Given the description of an element on the screen output the (x, y) to click on. 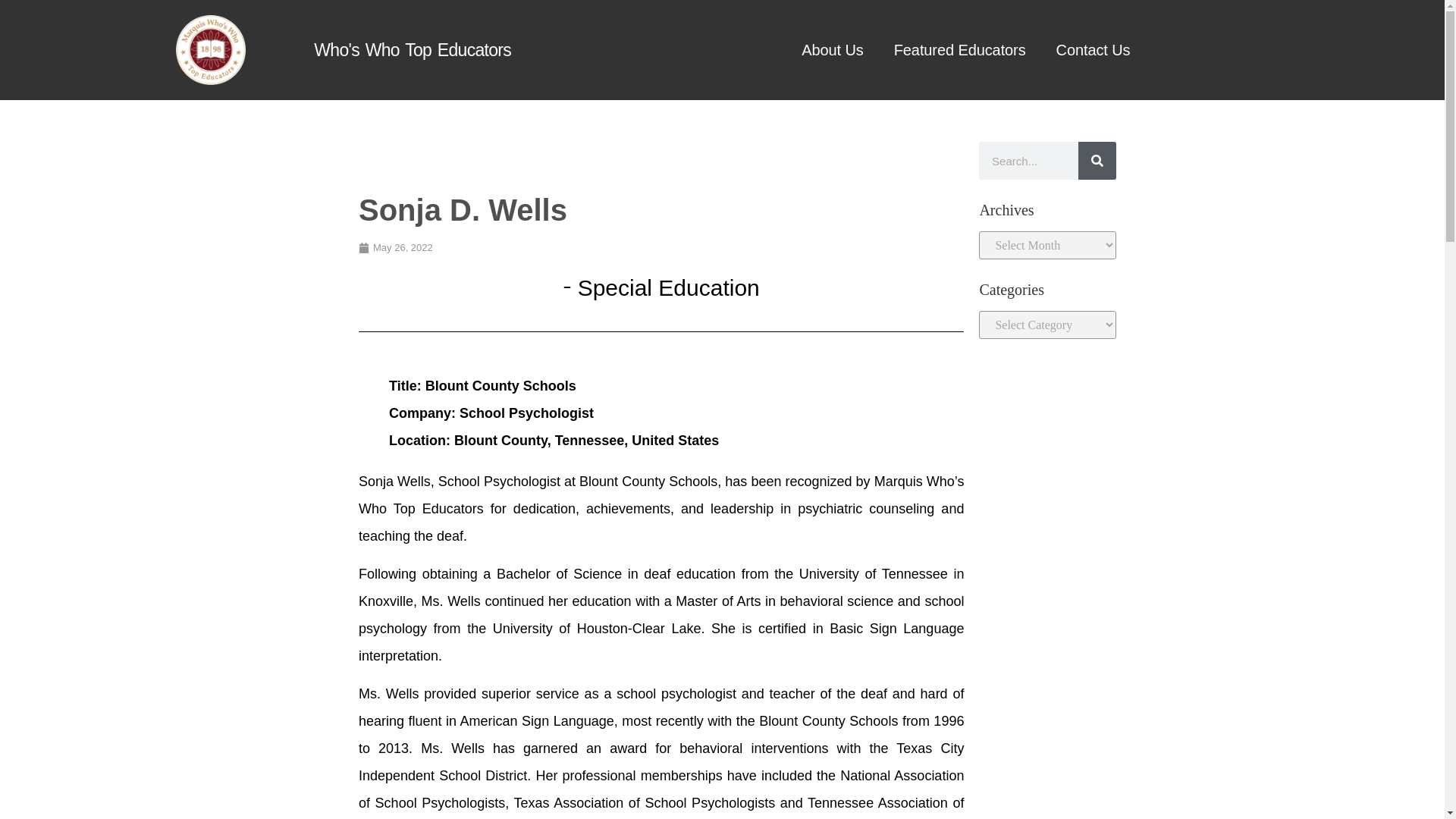
Contact Us (1093, 49)
Who's Who Top Educators (412, 48)
May 26, 2022 (395, 247)
Special Education (669, 286)
About Us (831, 49)
Featured Educators (960, 49)
